Given the description of an element on the screen output the (x, y) to click on. 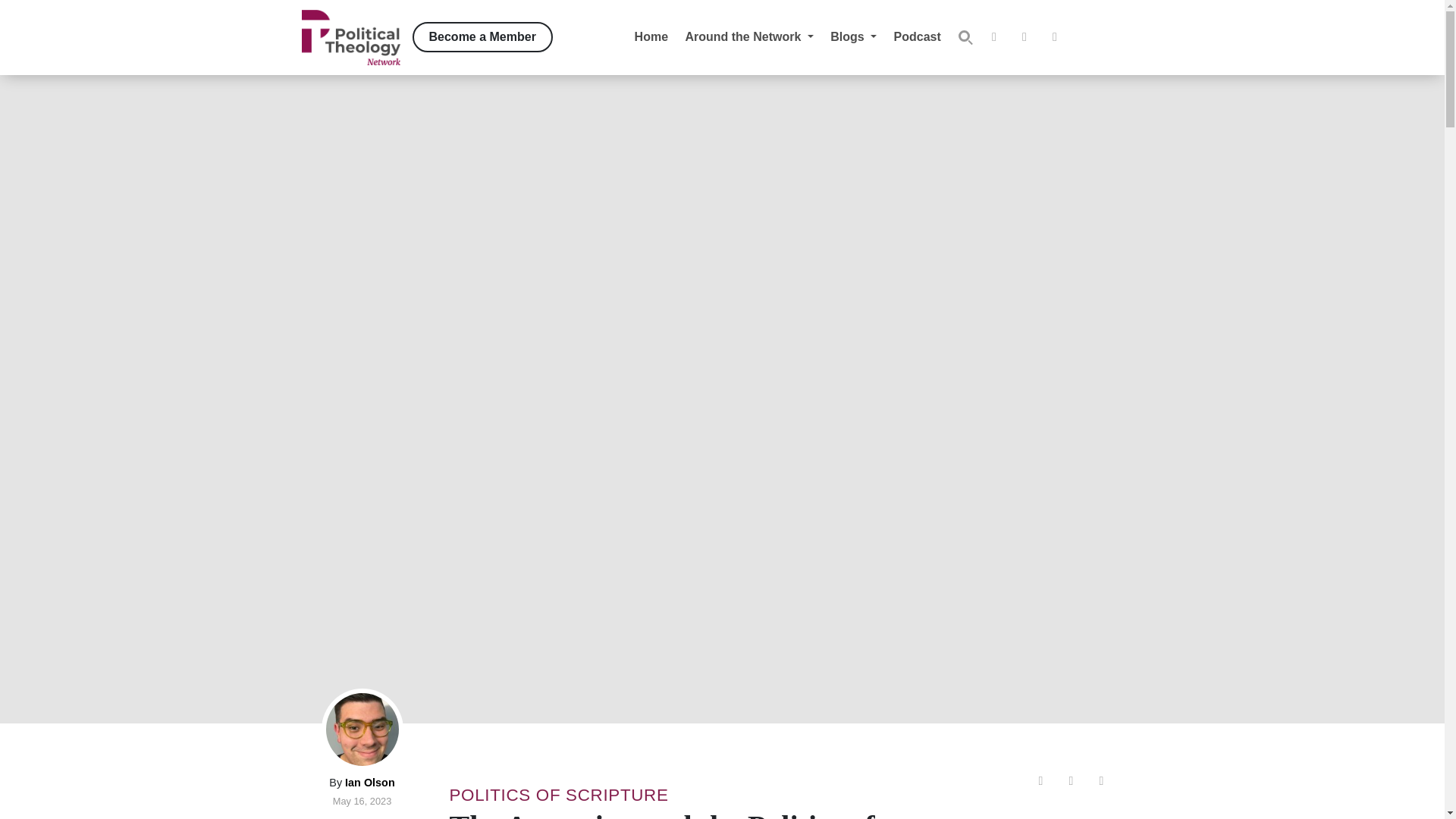
Around the Network (749, 36)
Podcast (917, 36)
POLITICS OF SCRIPTURE (558, 794)
Blogs (853, 36)
Podcast (917, 36)
Ian Olson (369, 782)
Home (651, 36)
Around the Network (749, 36)
Submit (965, 37)
Home (651, 36)
Become a Member (482, 37)
Blogs (853, 36)
